Given the description of an element on the screen output the (x, y) to click on. 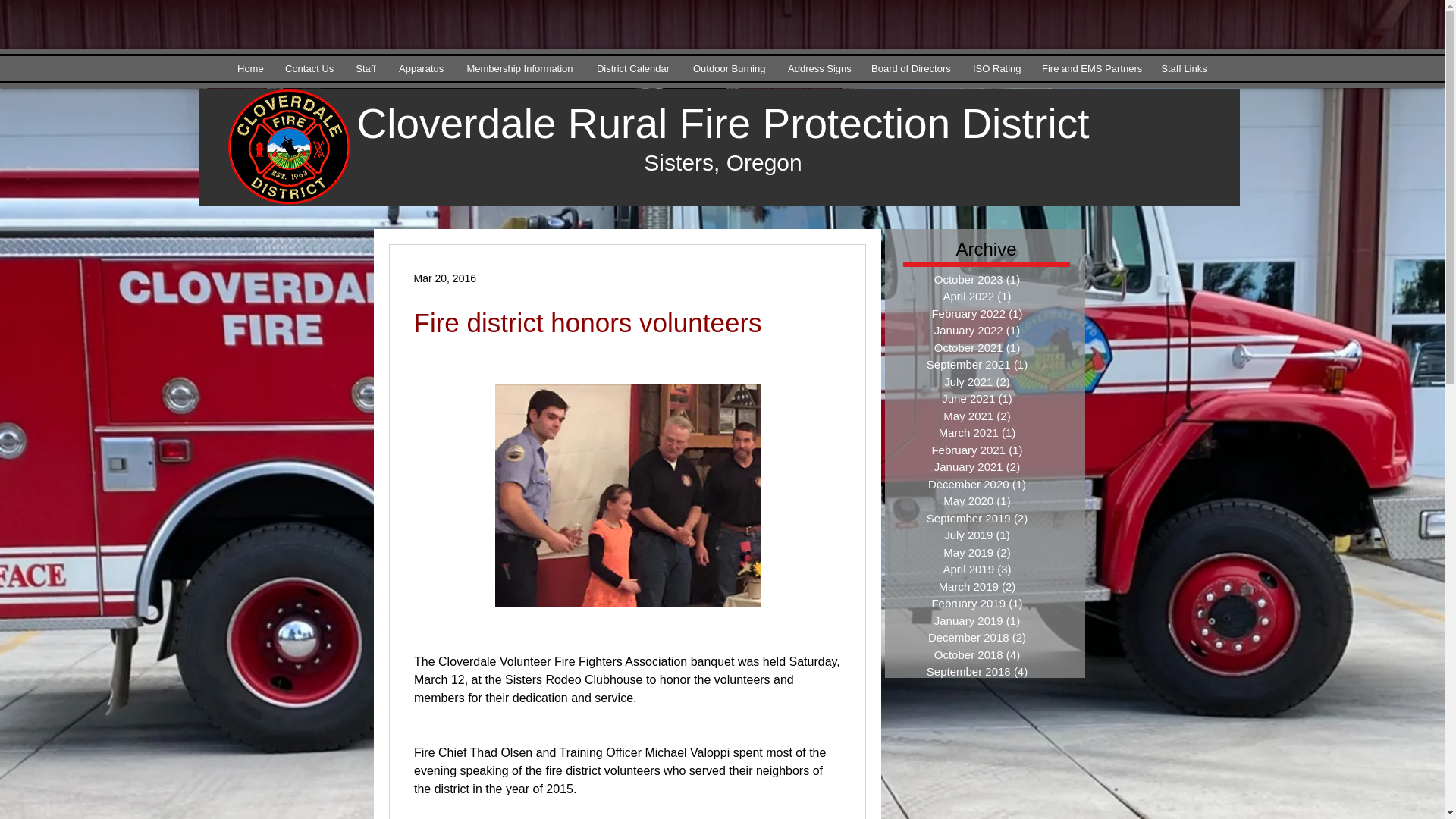
Staff Links (1184, 67)
Mar 20, 2016 (445, 277)
Staff (365, 67)
Board of Directors (910, 67)
Home (249, 67)
Apparatus (420, 67)
District Calendar (633, 67)
Address Signs (818, 67)
Outdoor Burning (728, 67)
ISO Rating (995, 67)
